Given the description of an element on the screen output the (x, y) to click on. 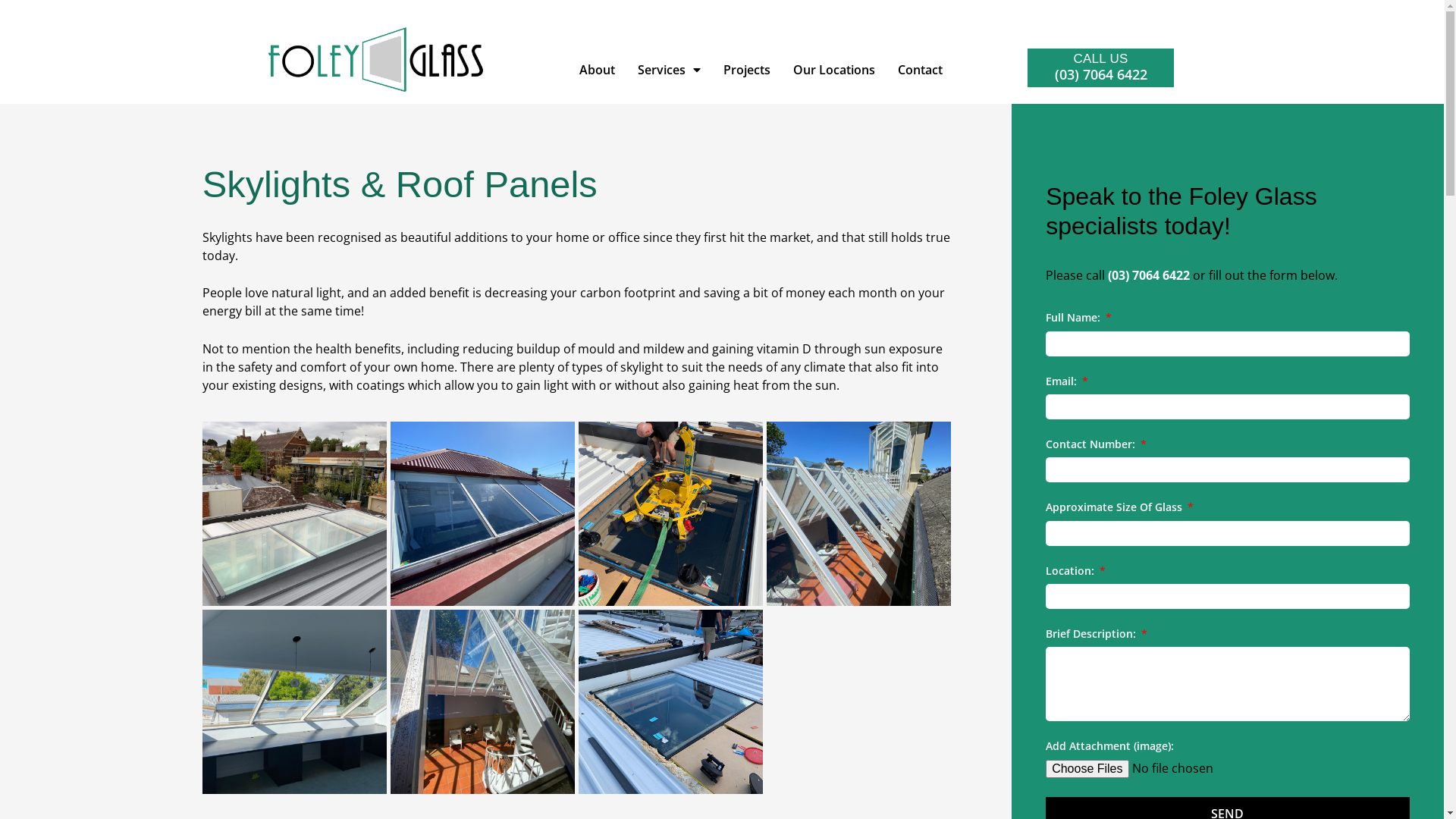
Projects Element type: text (746, 69)
Contact Element type: text (920, 69)
About Element type: text (596, 69)
CALL US Element type: text (1100, 58)
(03) 7064 6422 Element type: text (1149, 274)
Services Element type: text (669, 69)
Our Locations Element type: text (833, 69)
